Given the description of an element on the screen output the (x, y) to click on. 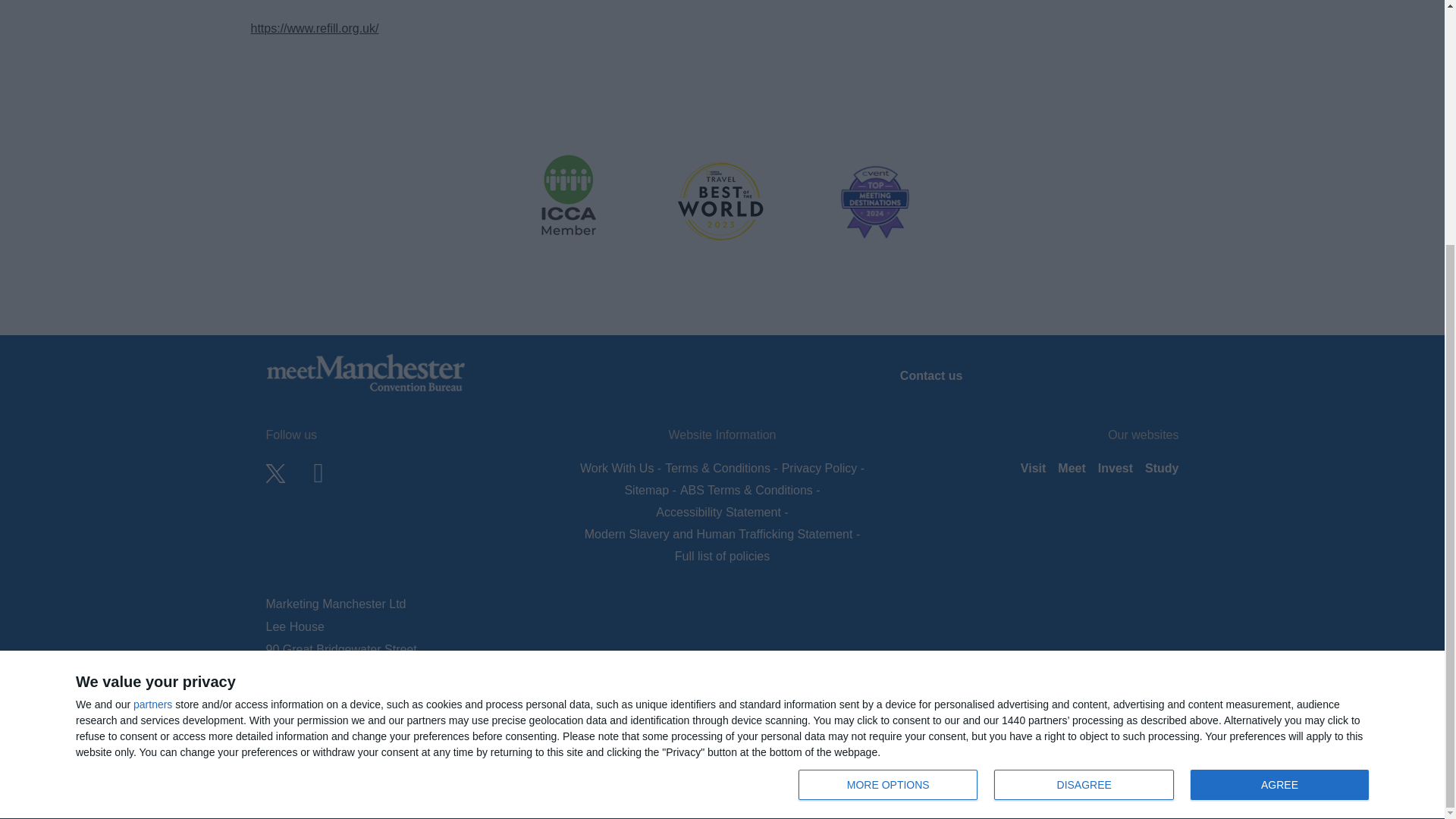
partners (152, 363)
Work With Us (618, 468)
Privacy Policy (820, 468)
Accessibility Menu (1422, 451)
DISAGREE (1083, 444)
Modern Slavery and Human Trafficking Statement (720, 533)
Visit (1033, 468)
Accessibility Statement (720, 512)
Full list of policies (1086, 445)
MORE OPTIONS (722, 555)
Sitemap (886, 444)
AGREE (647, 490)
